Given the description of an element on the screen output the (x, y) to click on. 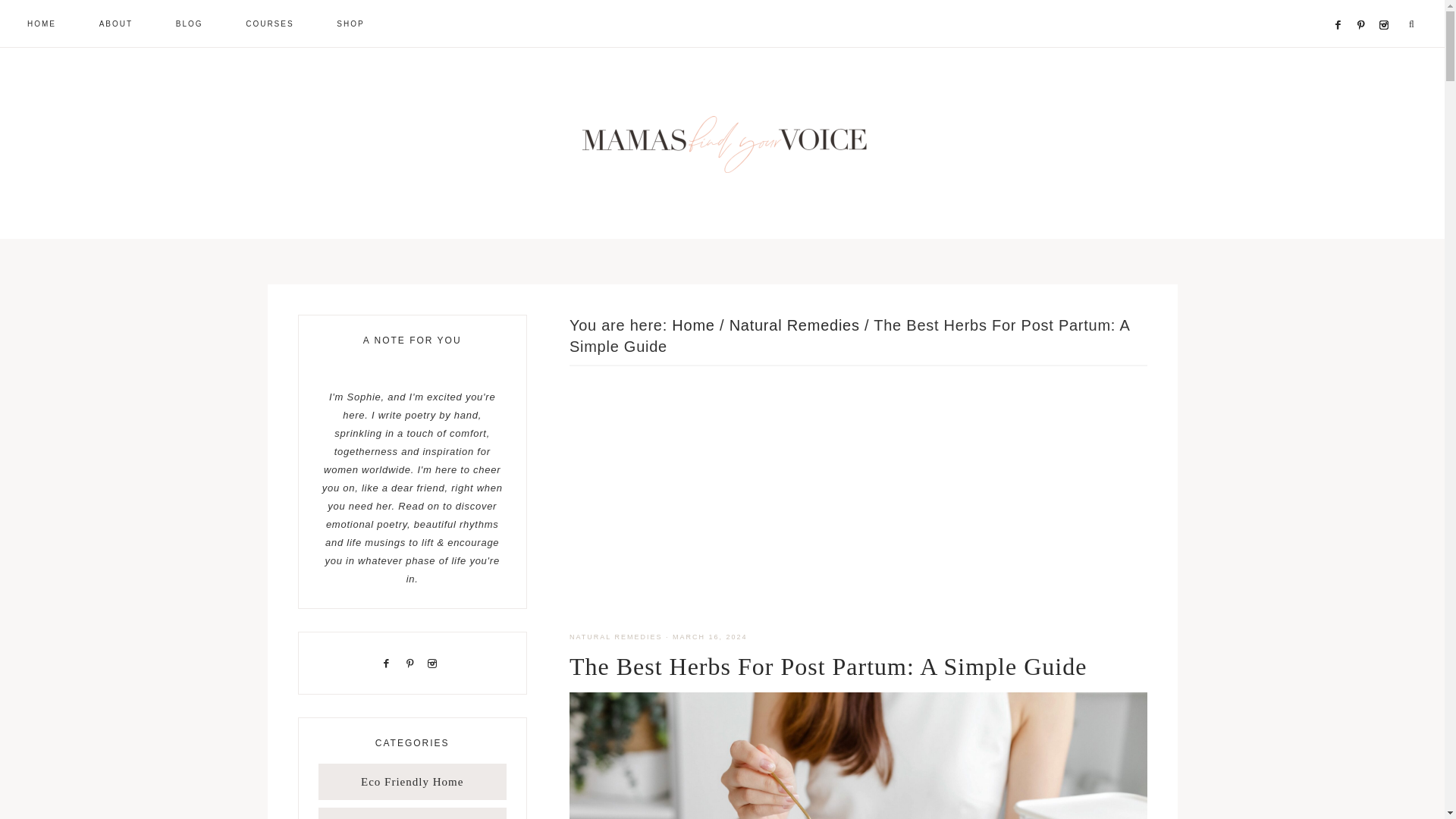
Home (692, 324)
BLOG (188, 22)
Instagram (1386, 6)
COURSES (269, 22)
Pinterest (1364, 6)
Natural Remedies (794, 324)
Facebook (1341, 6)
ABOUT (116, 22)
SHOP (350, 22)
HOME (41, 22)
